Given the description of an element on the screen output the (x, y) to click on. 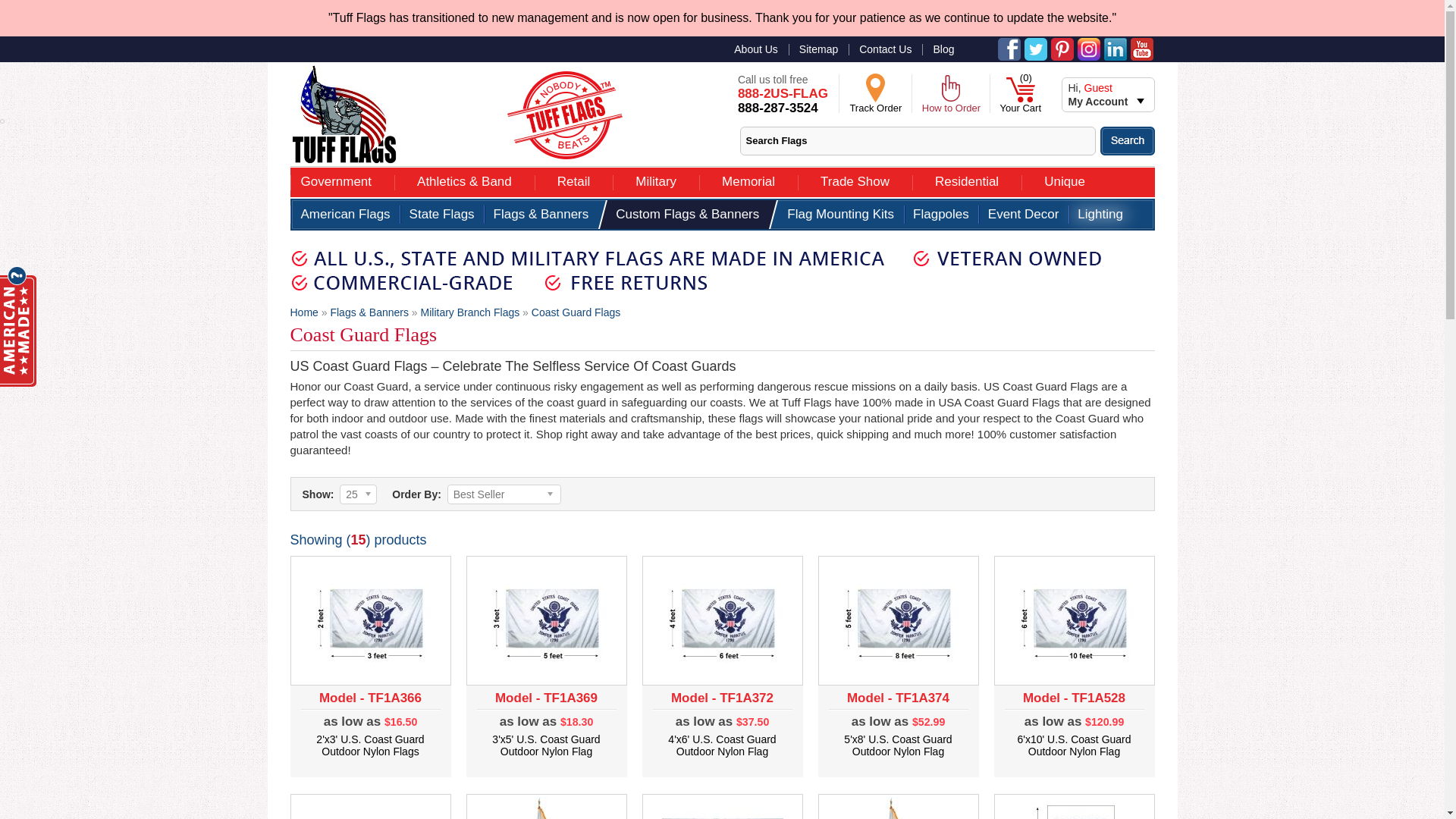
Track Order (876, 105)
Pinterest (789, 100)
Instagram (1062, 48)
Twitter (1088, 48)
Track Order (1034, 48)
Nobody Beats Tuffflags (876, 105)
Military (563, 114)
Youtube (655, 179)
Government (1141, 48)
